Given the description of an element on the screen output the (x, y) to click on. 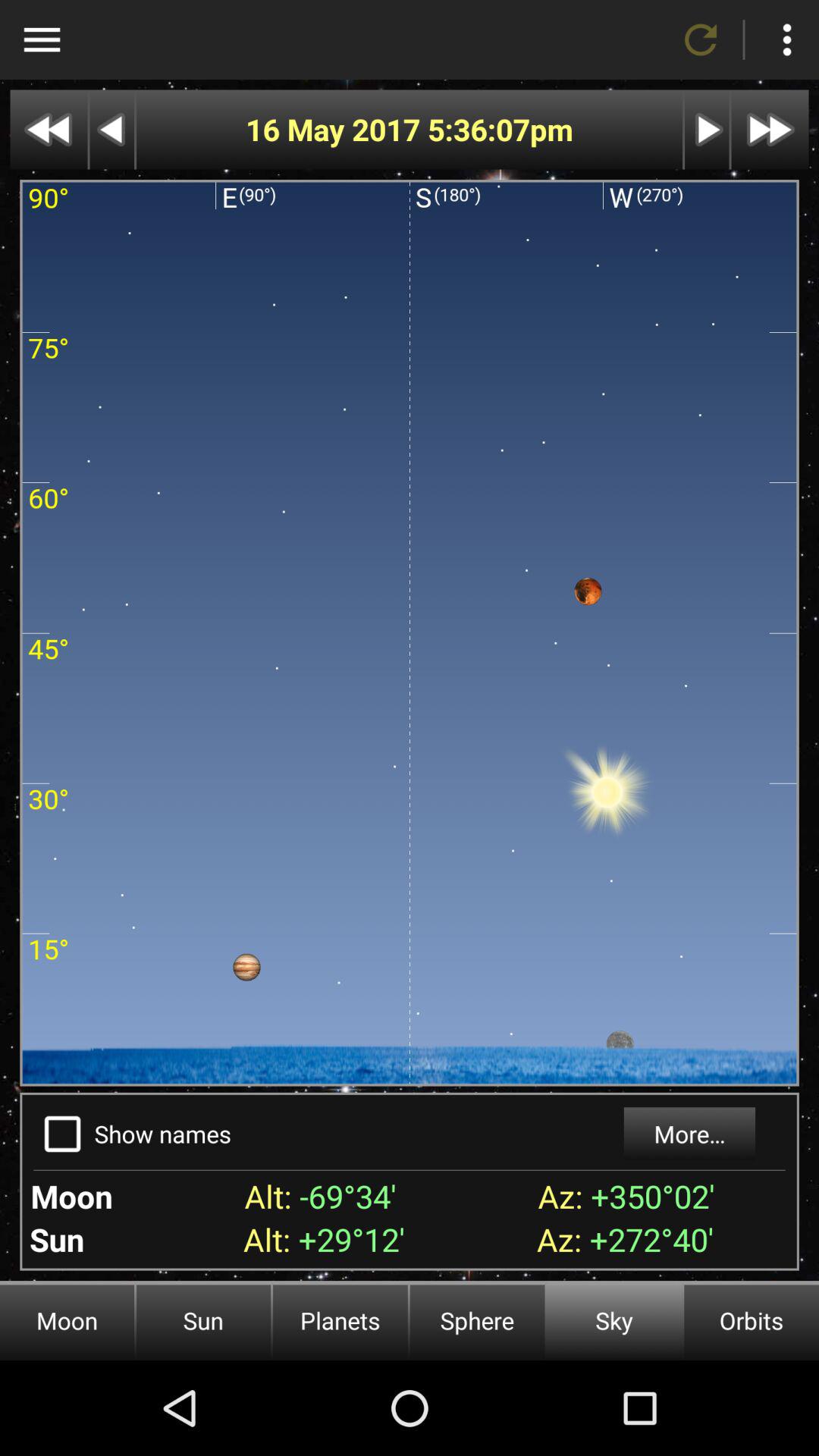
advance frame (706, 129)
